Given the description of an element on the screen output the (x, y) to click on. 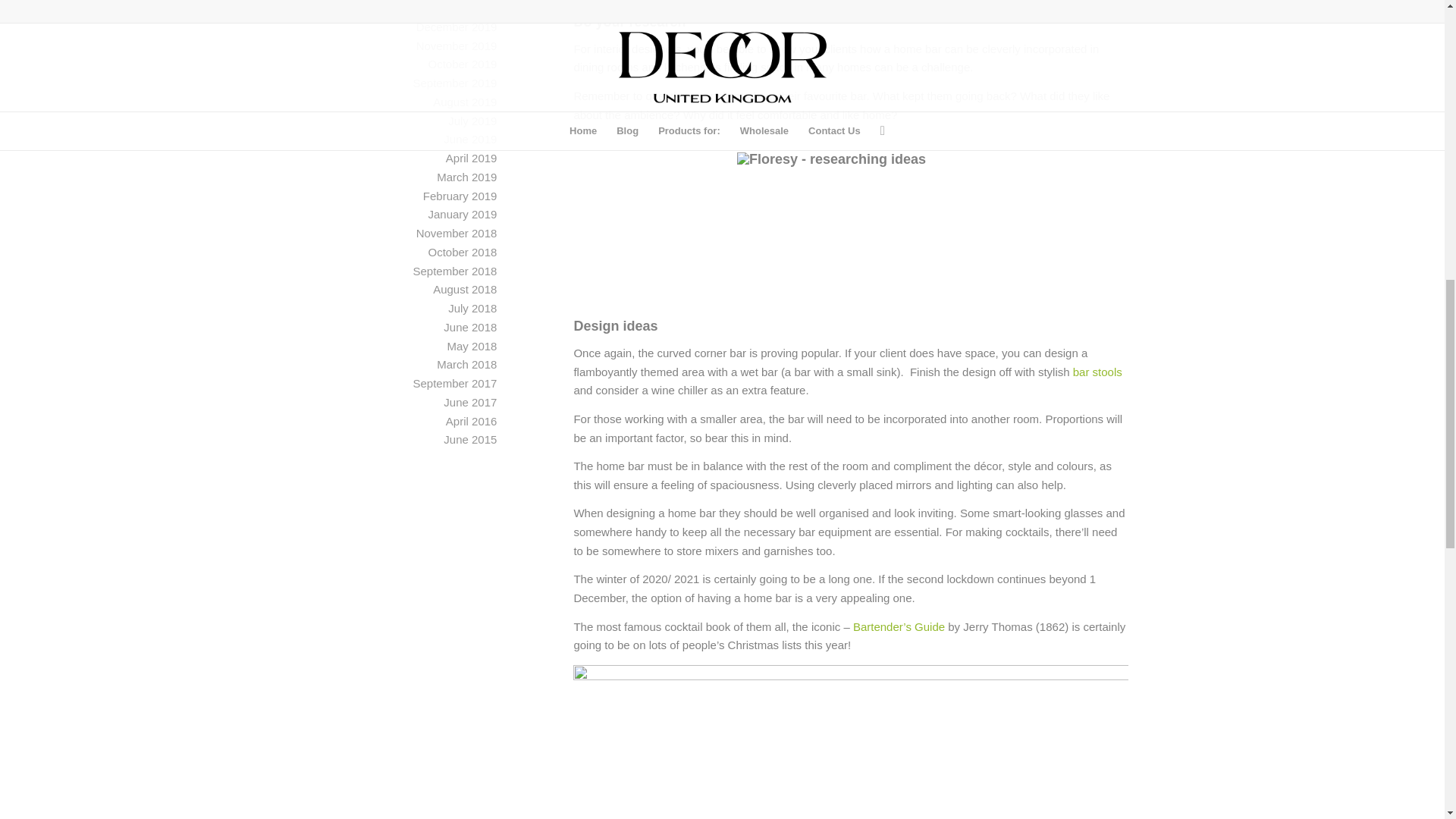
bar stools (1097, 371)
